Given the description of an element on the screen output the (x, y) to click on. 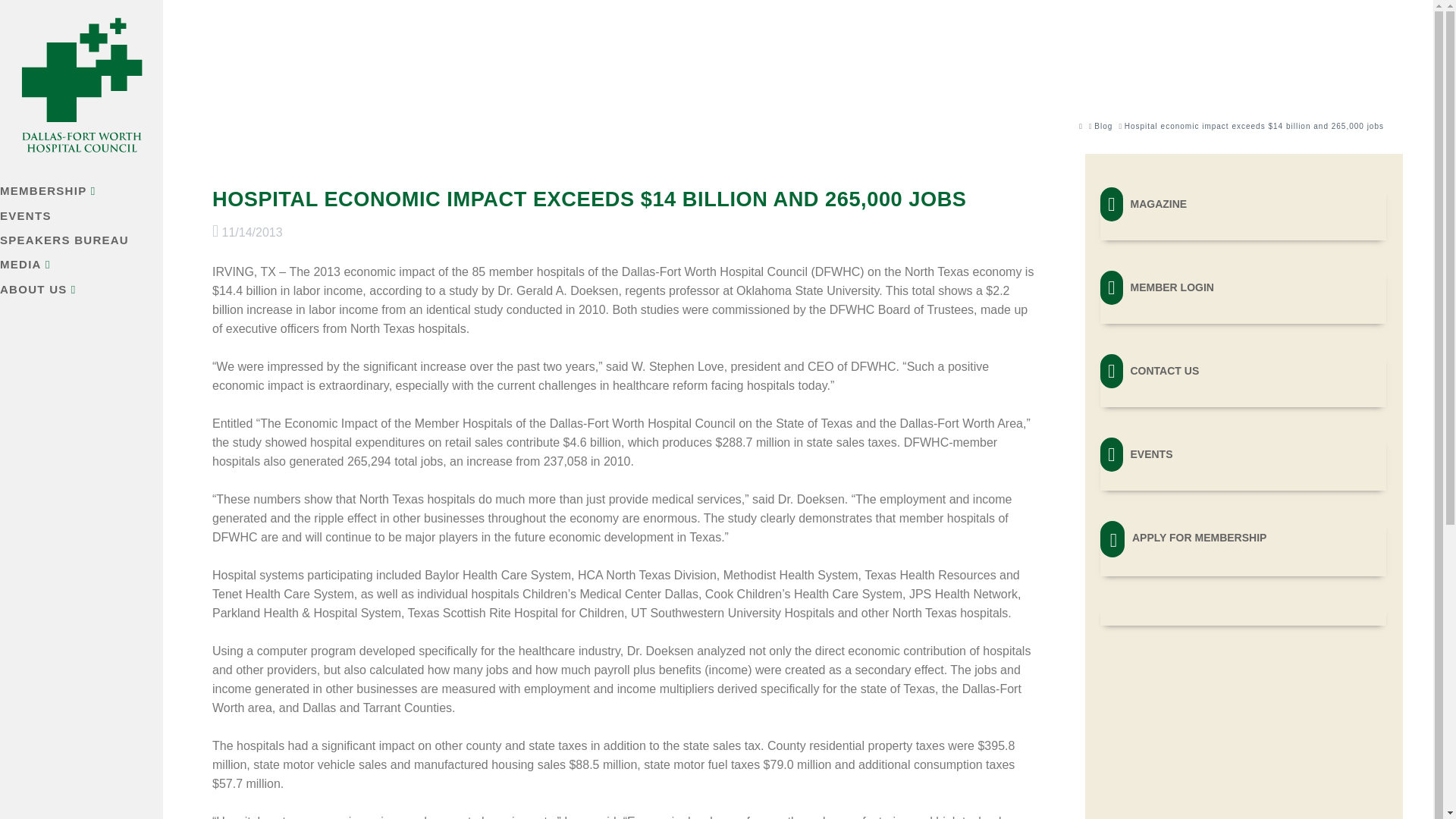
SPEAKERS BUREAU (86, 241)
MEMBER LOGIN (1243, 287)
MEMBERSHIP (86, 192)
ABOUT US (86, 291)
MEDIA (86, 266)
You Are Here (1254, 126)
Dallas-Fort Worth Hospital Council, North Texas (95, 85)
CONTACT US (1243, 370)
EVENTS (86, 217)
EVENTS (1243, 454)
